Given the description of an element on the screen output the (x, y) to click on. 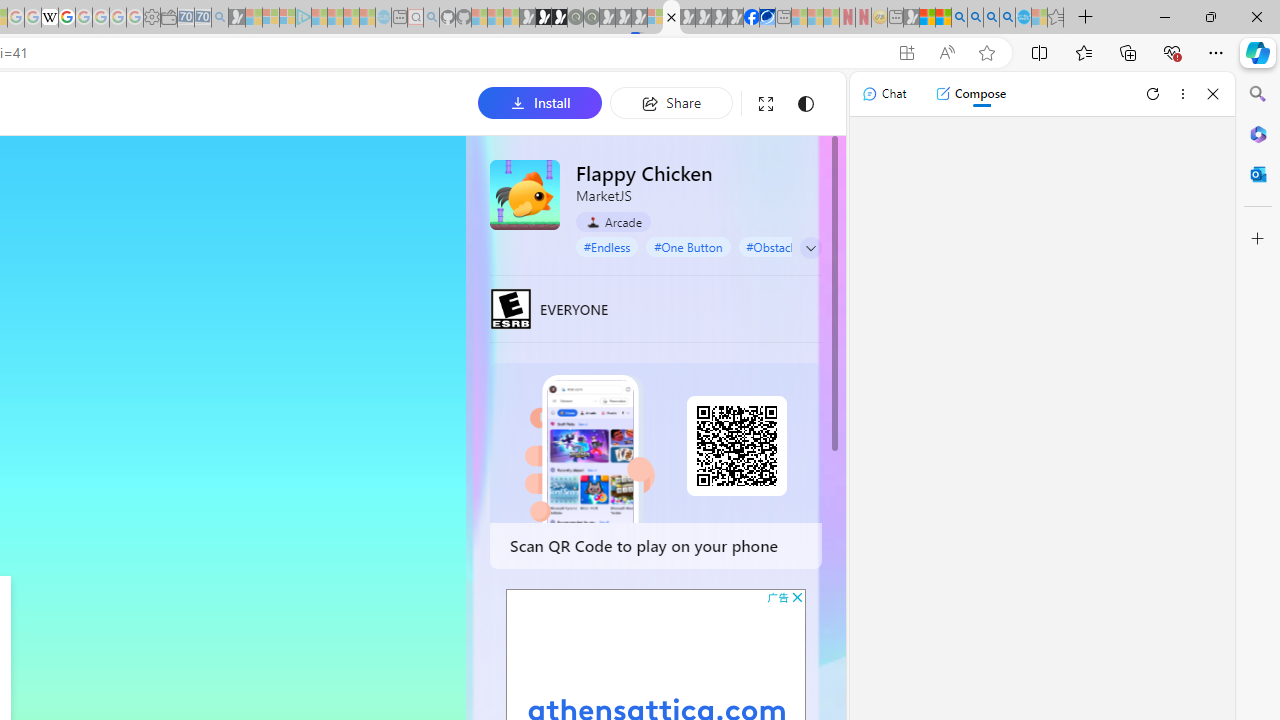
Arcade (613, 221)
AutomationID: cbb (797, 596)
Share (671, 102)
